Given the description of an element on the screen output the (x, y) to click on. 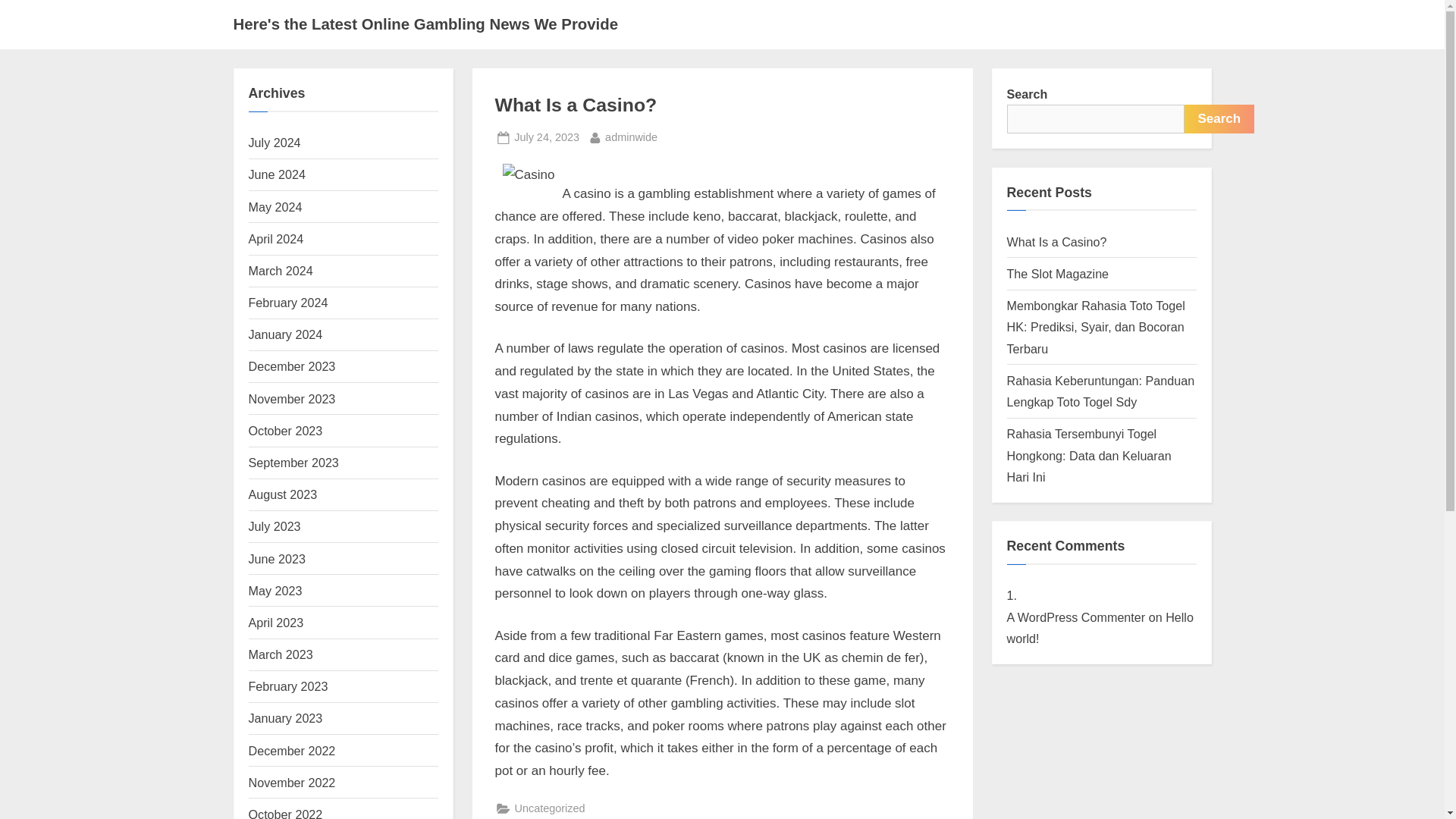
December 2022 (292, 750)
June 2024 (546, 137)
November 2022 (276, 173)
July 2023 (292, 782)
March 2024 (274, 526)
April 2024 (280, 270)
Search (276, 238)
June 2023 (1220, 118)
May 2024 (276, 558)
October 2022 (275, 206)
January 2023 (285, 813)
March 2023 (285, 717)
February 2024 (280, 653)
